Given the description of an element on the screen output the (x, y) to click on. 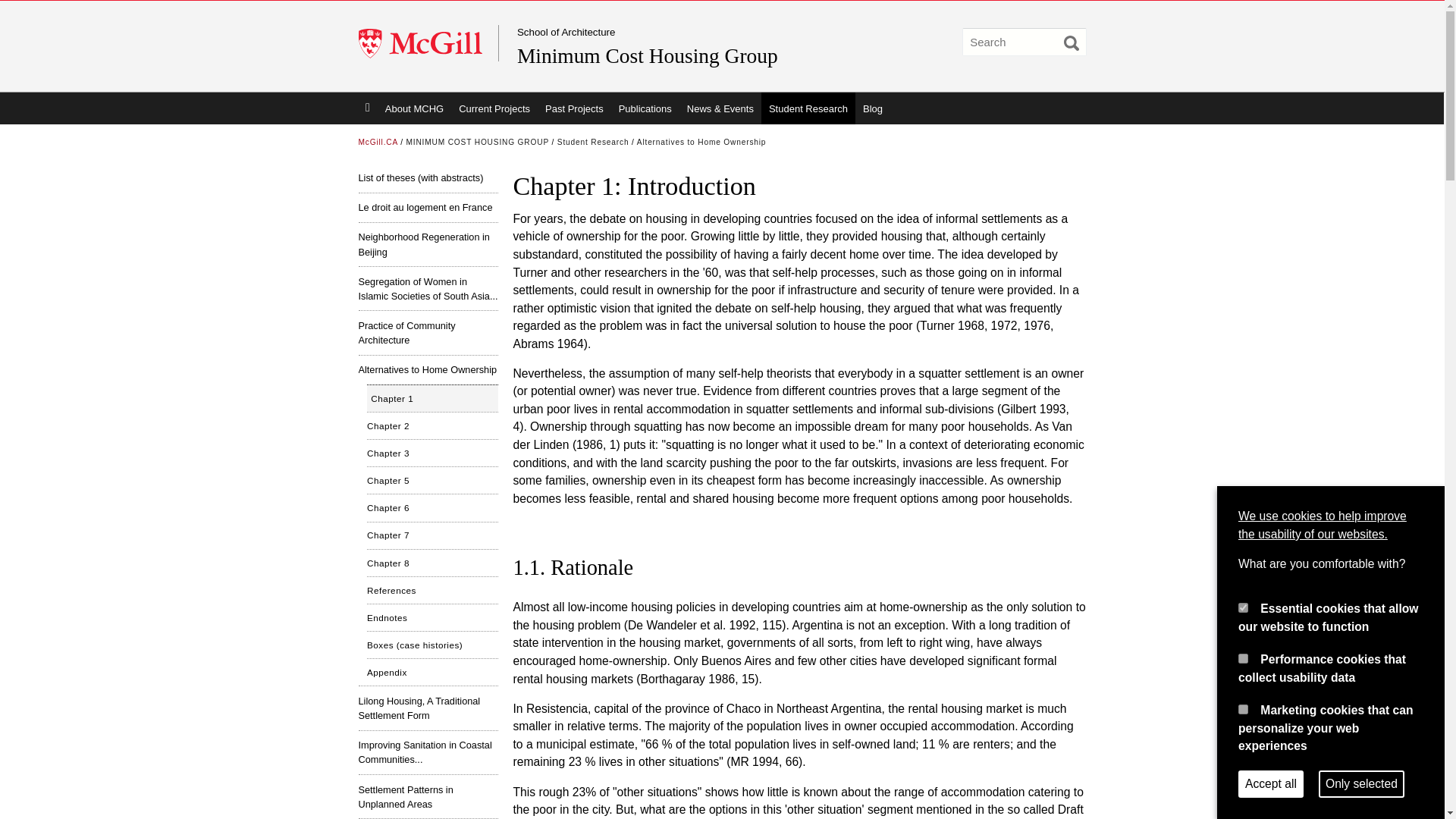
Neighborhood Regeneration in Beijing (427, 244)
Search (1070, 42)
Alternatives to Home Ownership (702, 142)
Chapter 5 (431, 479)
References (431, 590)
Lilong Housing, A Traditional Settlement Form (427, 707)
Search (1070, 42)
Chapter 8 (431, 562)
required (1243, 607)
marketing (1243, 709)
Settlement Patterns in Unplanned Areas (427, 796)
Segregation of Women in Islamic Societies of South Asia... (427, 288)
Practice of Community Architecture (427, 332)
Past Projects (574, 108)
Chapter 3 (431, 452)
